Given the description of an element on the screen output the (x, y) to click on. 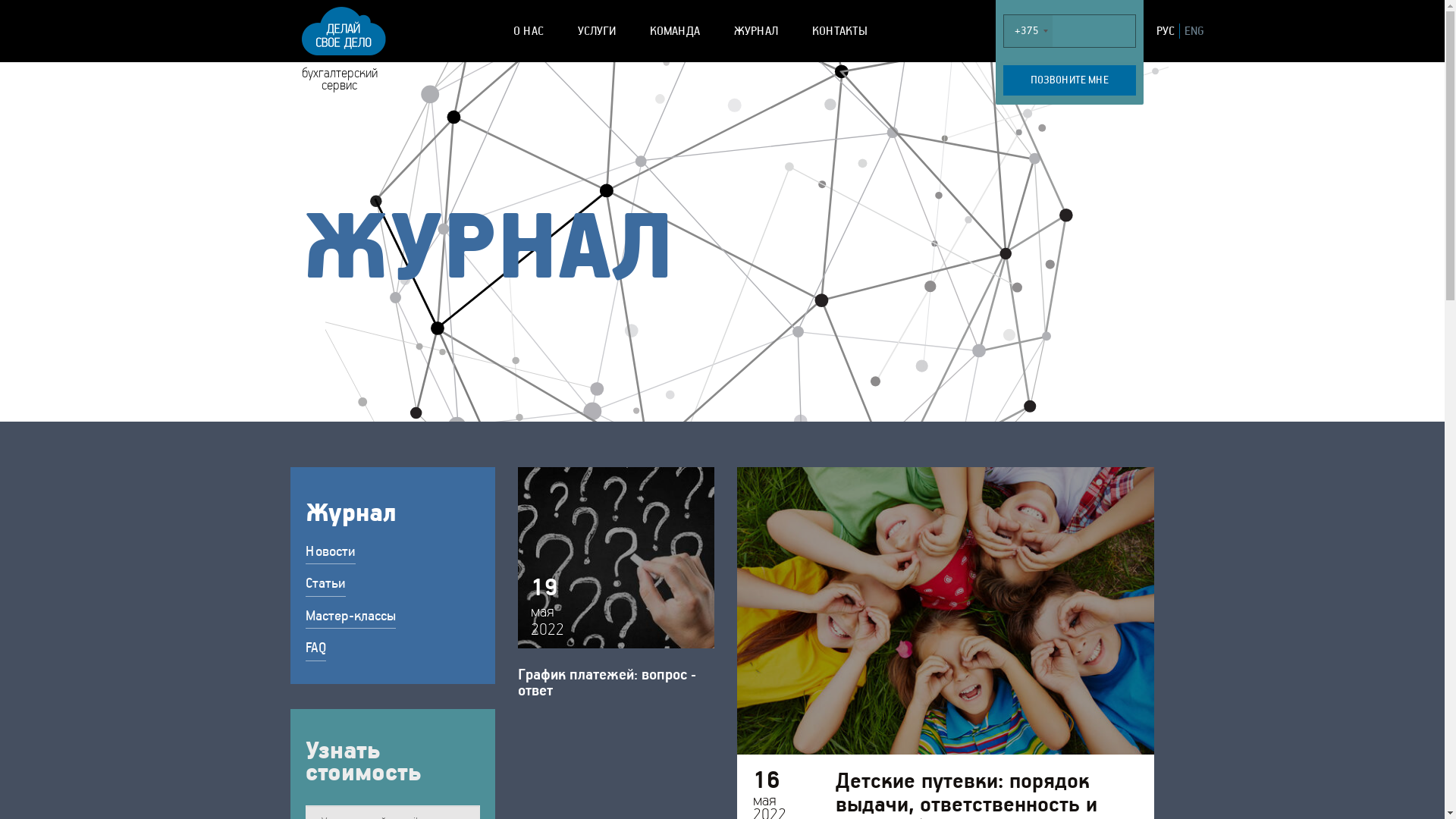
ENG Element type: text (1194, 30)
FAQ Element type: text (314, 648)
